Given the description of an element on the screen output the (x, y) to click on. 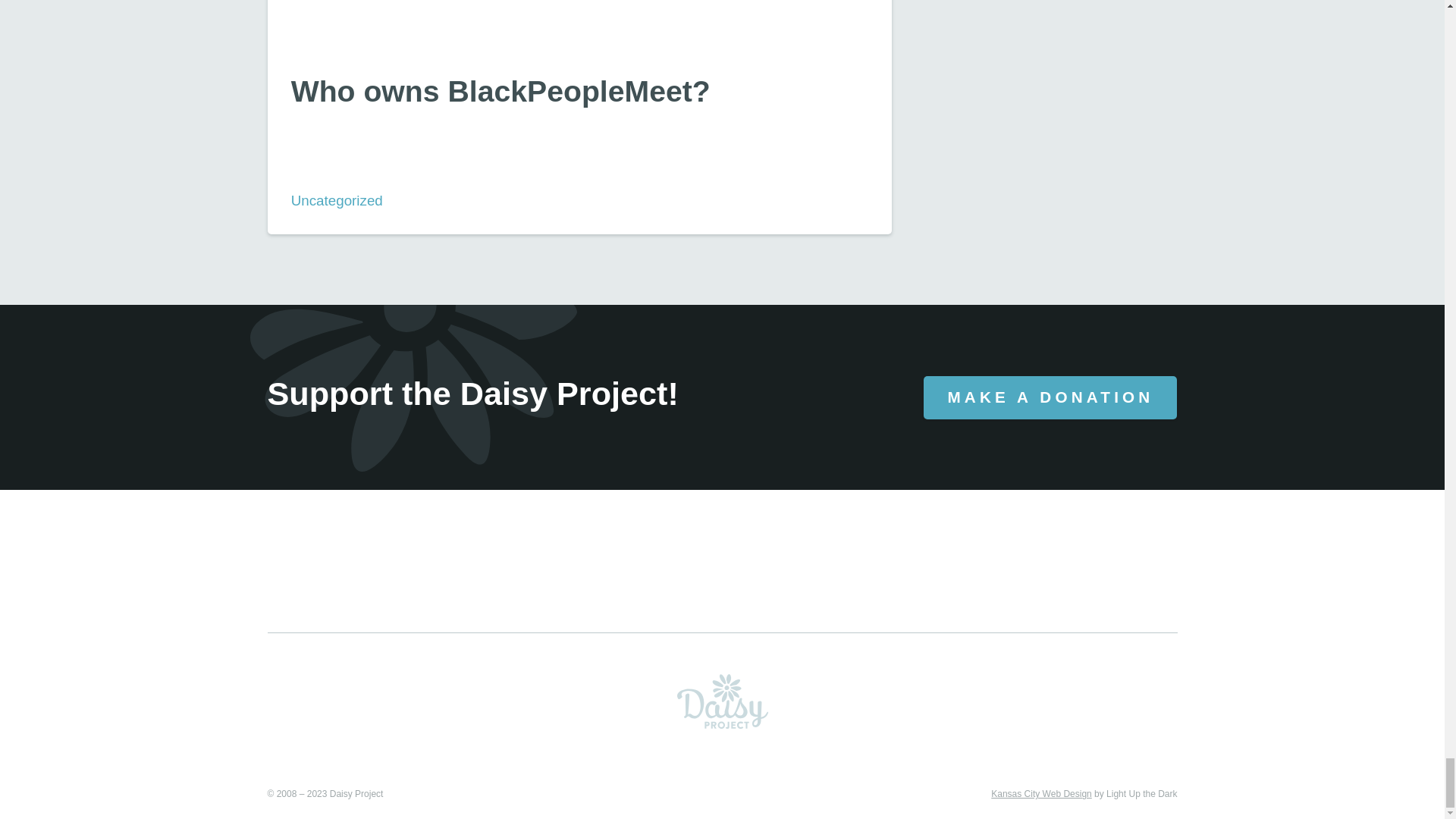
Kansas City Web Design (1041, 793)
MAKE A DONATION (1049, 397)
Uncategorized (336, 200)
Uncategorized (336, 200)
